Given the description of an element on the screen output the (x, y) to click on. 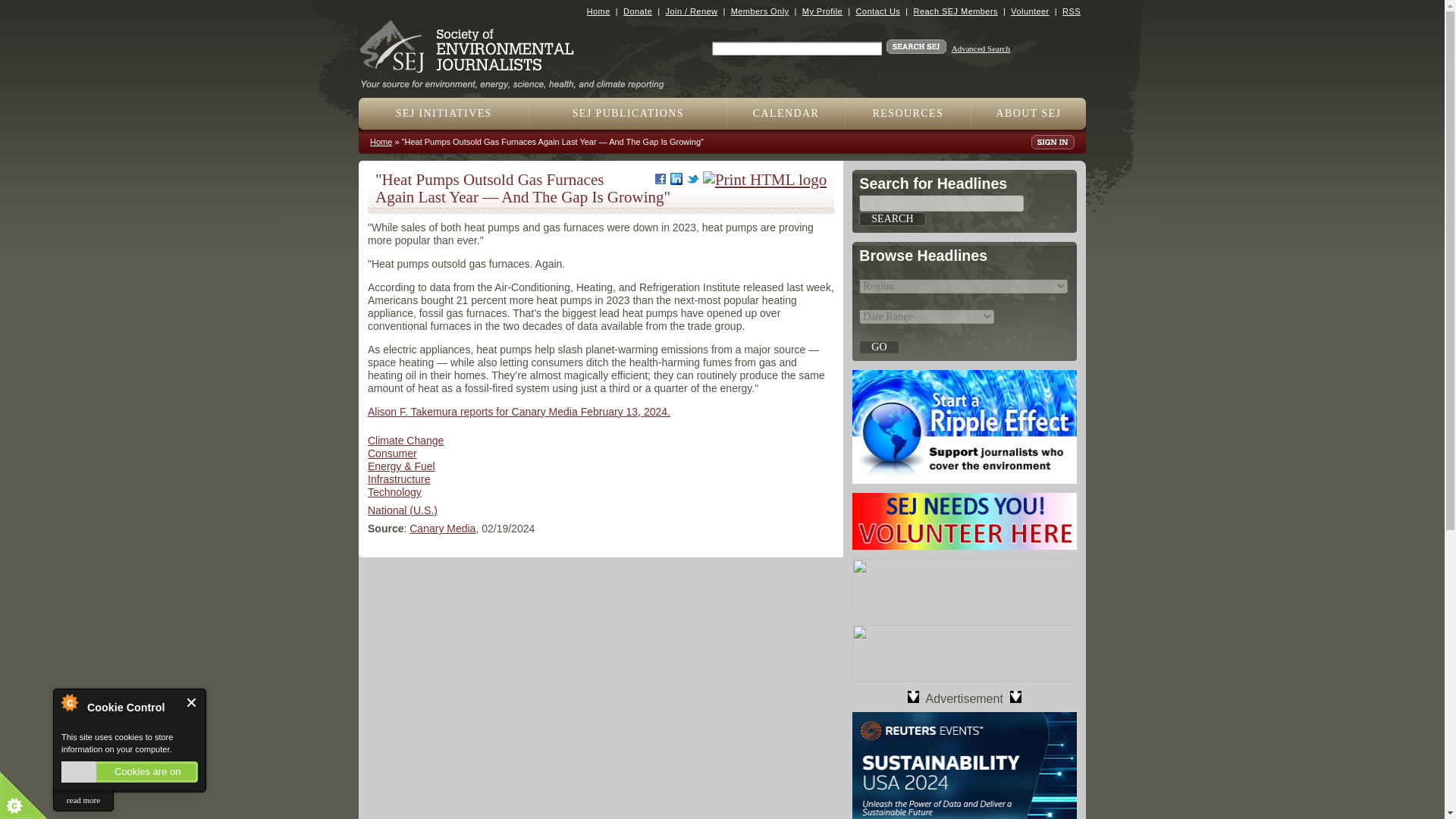
Home (598, 10)
Donate (637, 10)
Go (878, 346)
SEJ PUBLICATIONS (627, 113)
Enter the terms you wish to search for. (796, 48)
read more (82, 801)
Members Only (759, 10)
Search (891, 219)
My Profile (822, 10)
RSS (1071, 10)
